Given the description of an element on the screen output the (x, y) to click on. 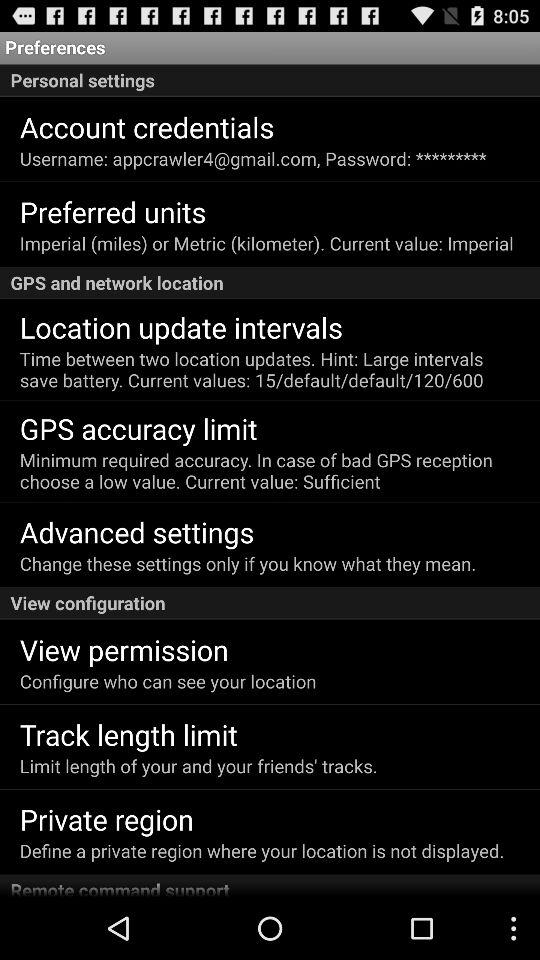
turn off personal settings icon (270, 80)
